Given the description of an element on the screen output the (x, y) to click on. 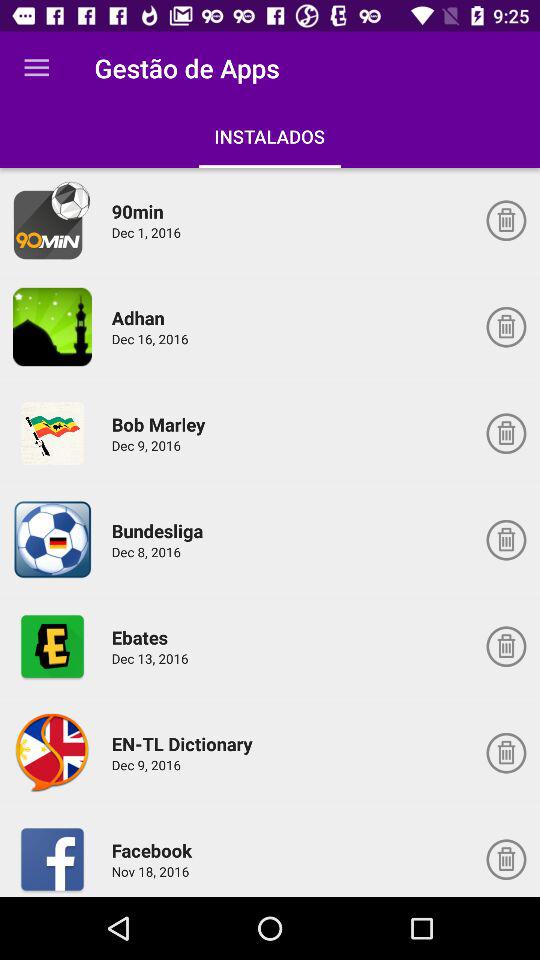
go to bundesliga application (52, 539)
